Given the description of an element on the screen output the (x, y) to click on. 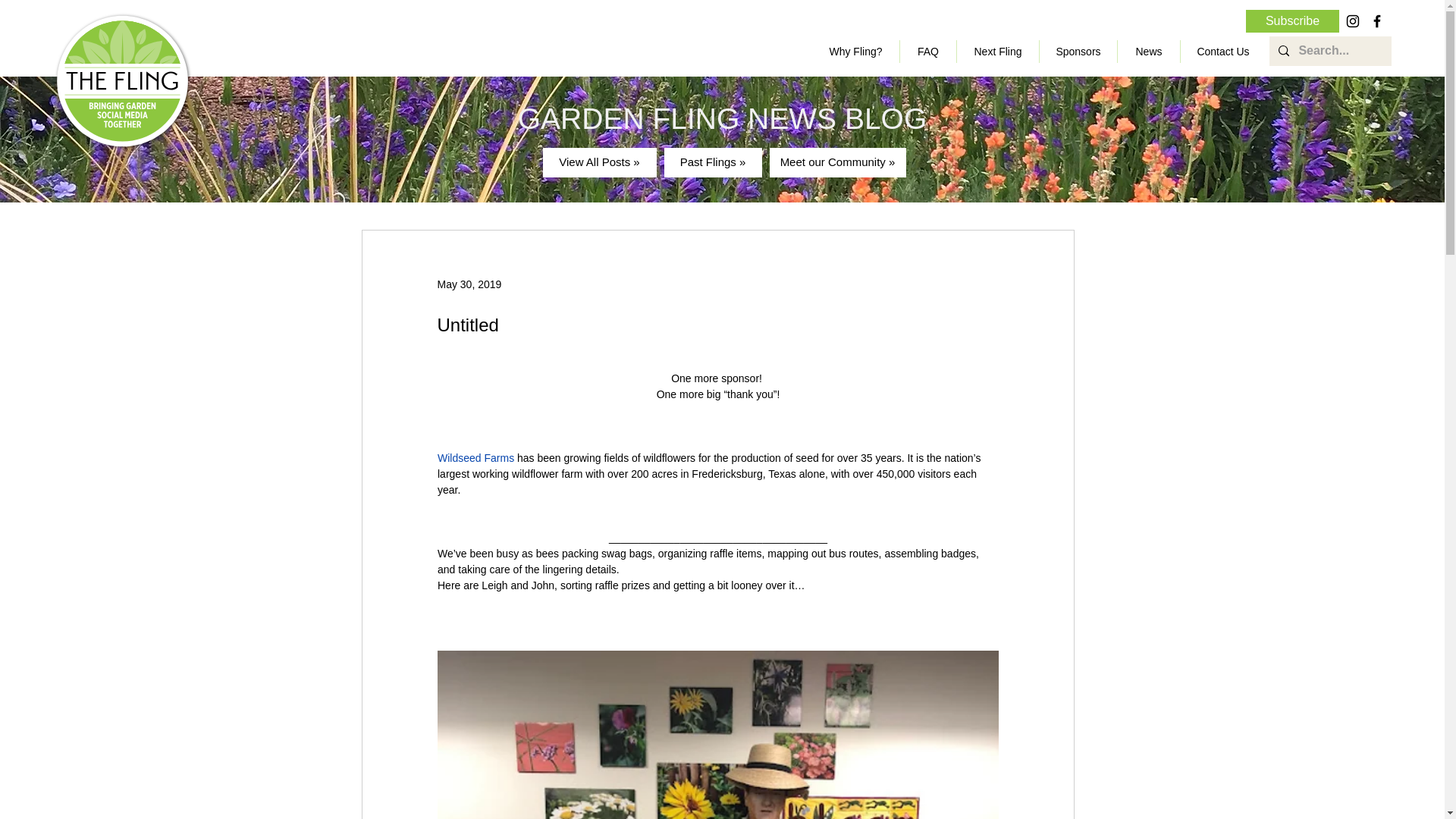
Contact Us (1222, 51)
May 30, 2019 (468, 284)
Next Fling (997, 51)
Why Fling? (855, 51)
Subscribe (1292, 20)
GARDEN FLING NEWS BLOG (722, 118)
FAQ (927, 51)
Sponsors (1077, 51)
Wildseed Farms (474, 458)
News (1148, 51)
